Given the description of an element on the screen output the (x, y) to click on. 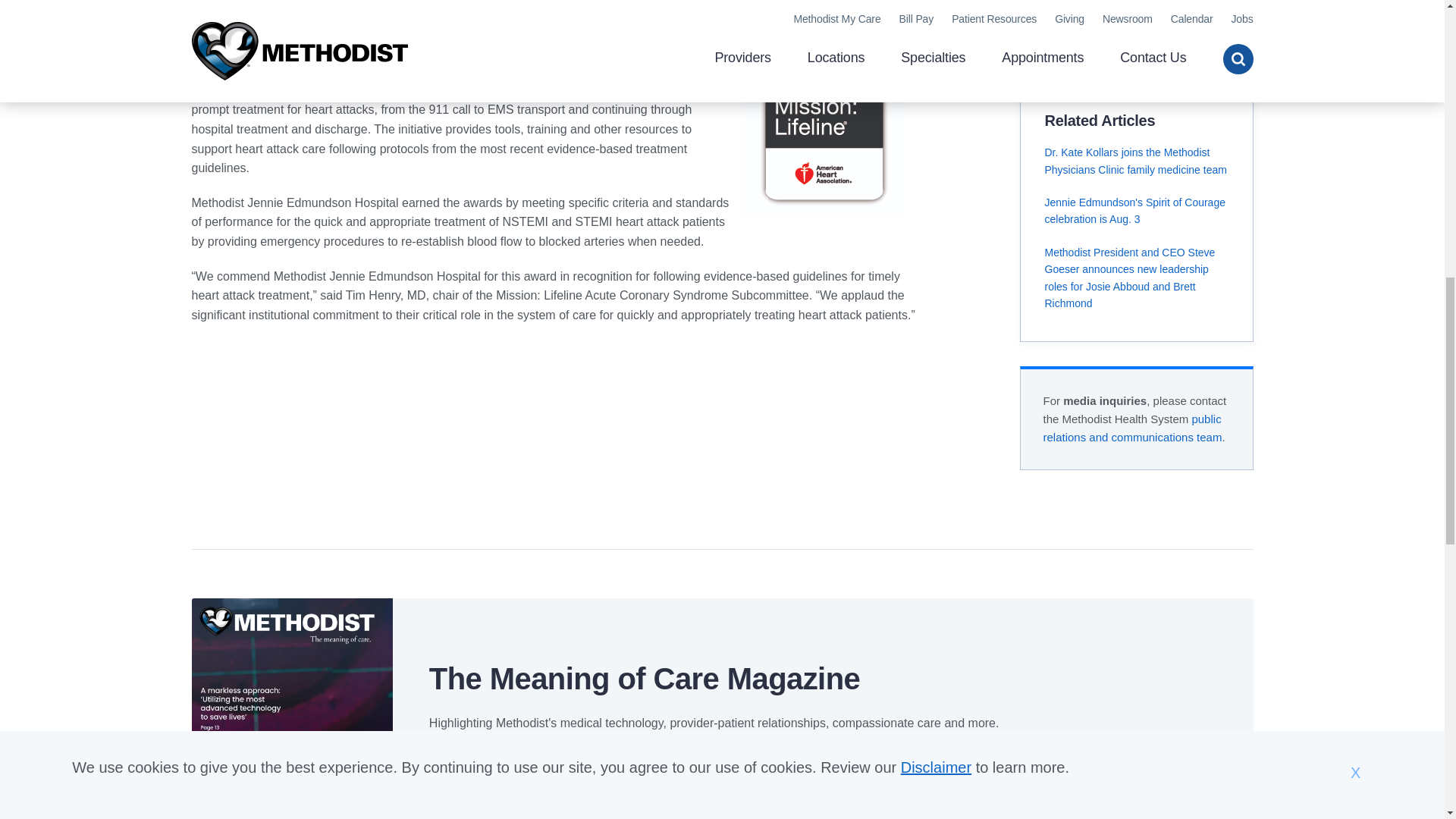
Methodist Health System media inquiry (1133, 427)
public relations and communications team (1133, 427)
Check Out the Magazine (506, 763)
Jennie Edmundson's Spirit of Courage celebration is Aug. 3 (1135, 210)
Women's Health (1085, 19)
